Given the description of an element on the screen output the (x, y) to click on. 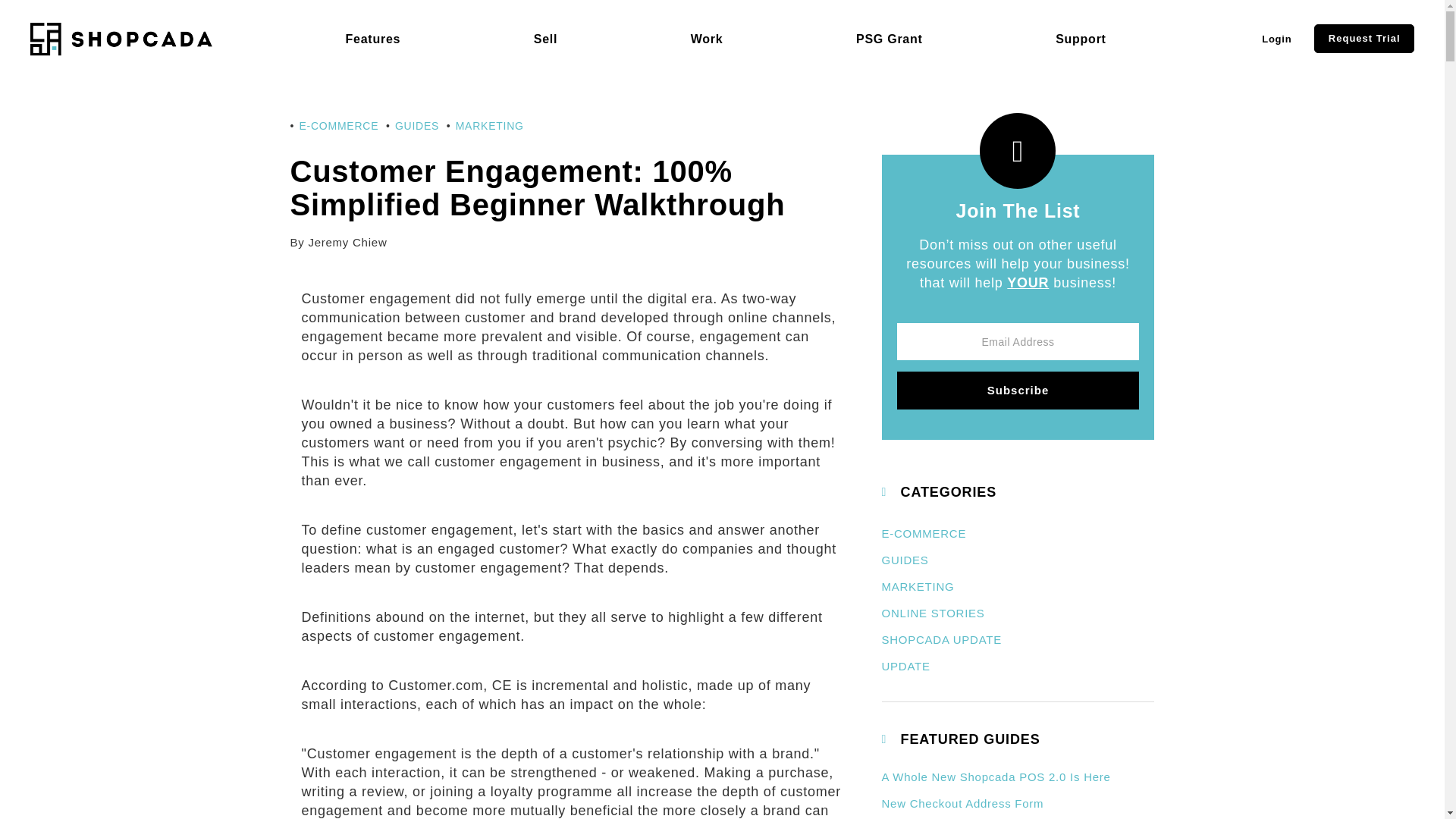
Request Trial (1363, 38)
Shopcada (121, 39)
Support (1080, 39)
Subscribe (1017, 390)
Features (373, 39)
Login (1276, 39)
Sell (545, 39)
PSG Grant (889, 39)
Work (706, 39)
